Given the description of an element on the screen output the (x, y) to click on. 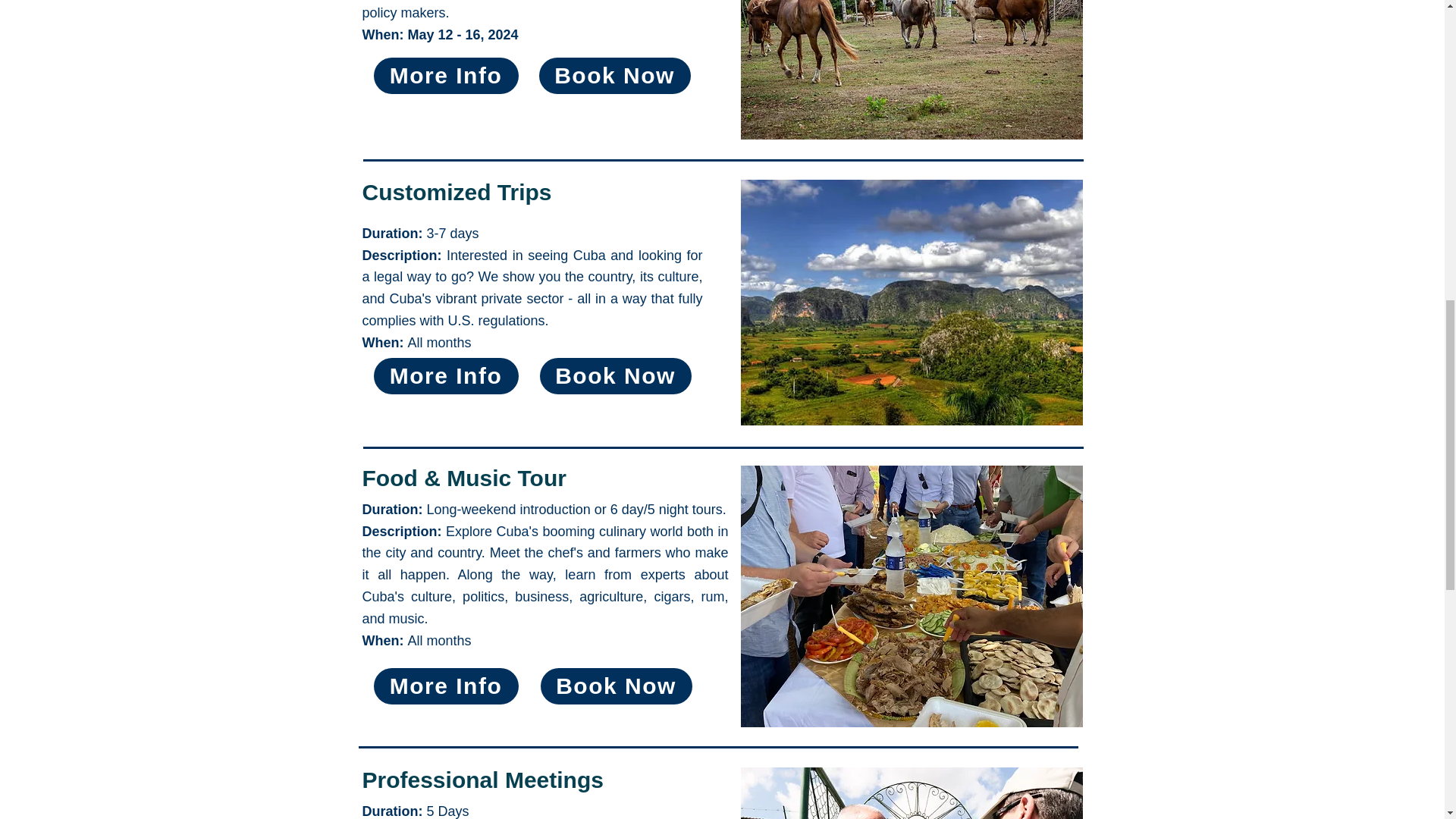
More Info (445, 75)
More Info (445, 375)
More Info (445, 686)
Book Now (614, 75)
Book Now (615, 686)
Book Now (615, 375)
